Given the description of an element on the screen output the (x, y) to click on. 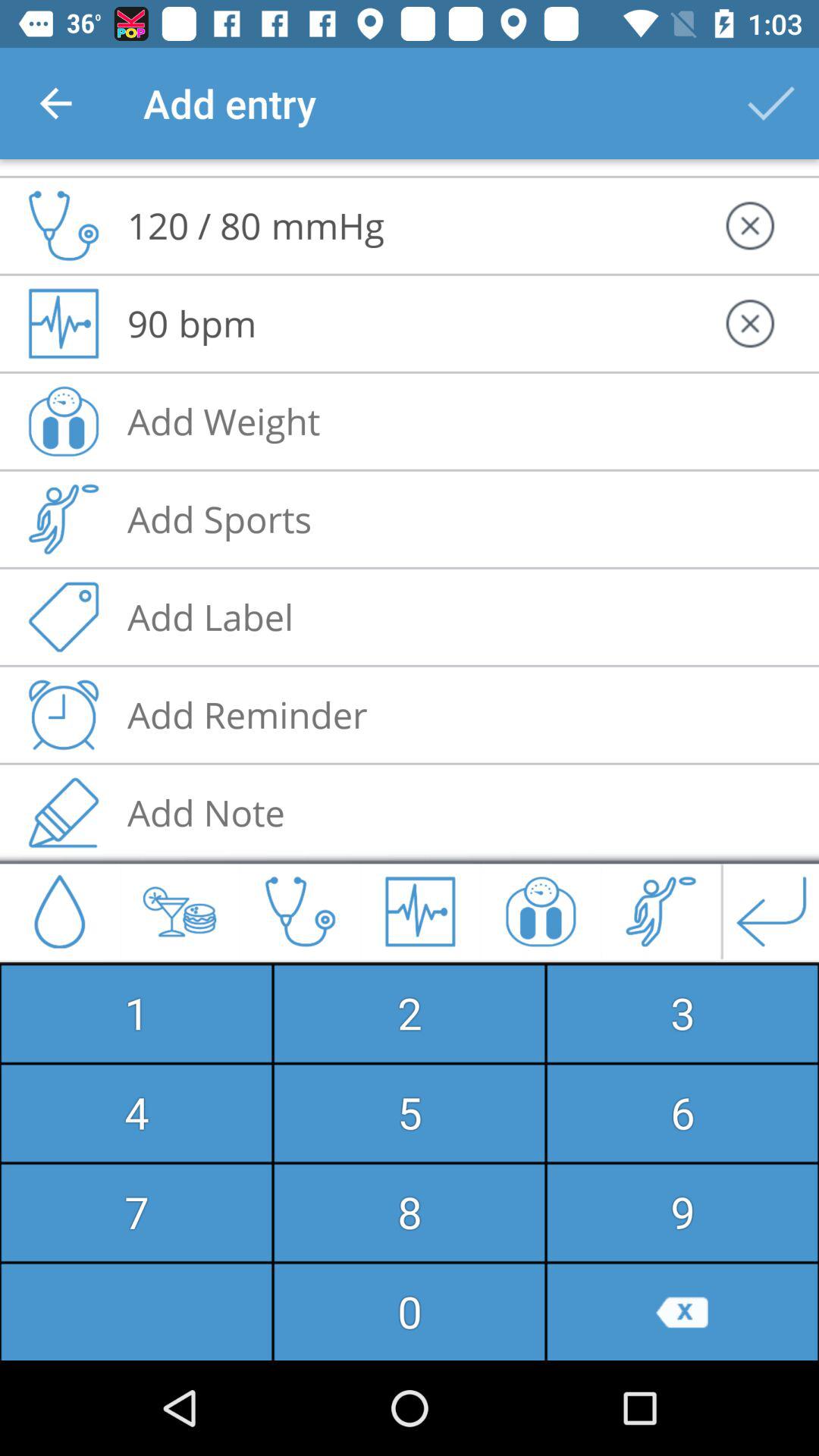
select enter icon at the bottom (771, 911)
click the icon just to the right of drop icon (179, 911)
select the 2nd icon which is above the number keypad (179, 911)
select the cross icon (749, 196)
go to the stethoscope icon (300, 911)
select the stethoscope icon (63, 196)
select the weight machine icon (540, 911)
